Given the description of an element on the screen output the (x, y) to click on. 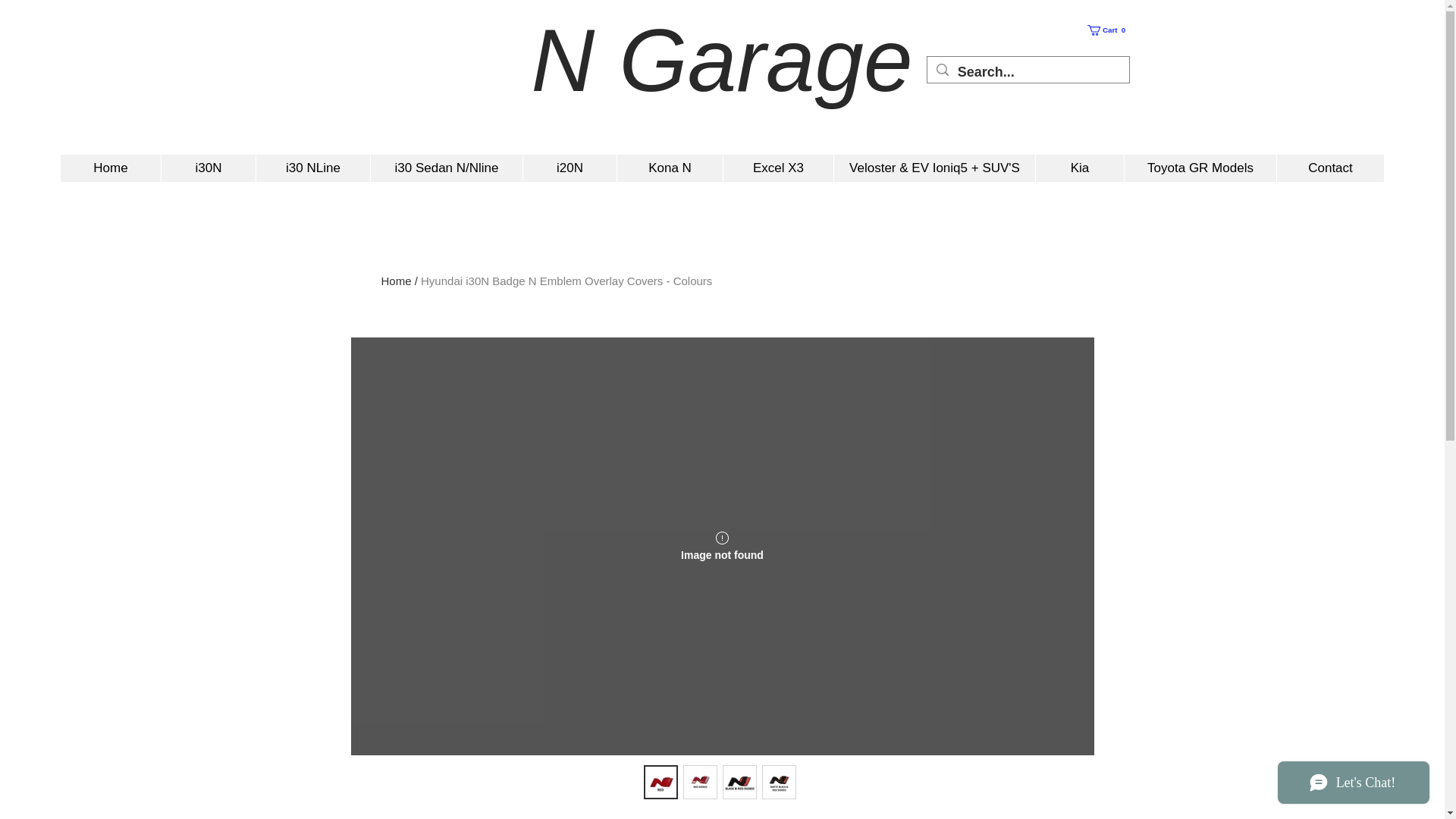
i30 NLine (312, 167)
Kona N (668, 167)
i30N (1108, 30)
Toyota GR Models (1108, 30)
Home (208, 167)
i20N (1200, 167)
Excel X3 (110, 167)
Kia (568, 167)
